Given the description of an element on the screen output the (x, y) to click on. 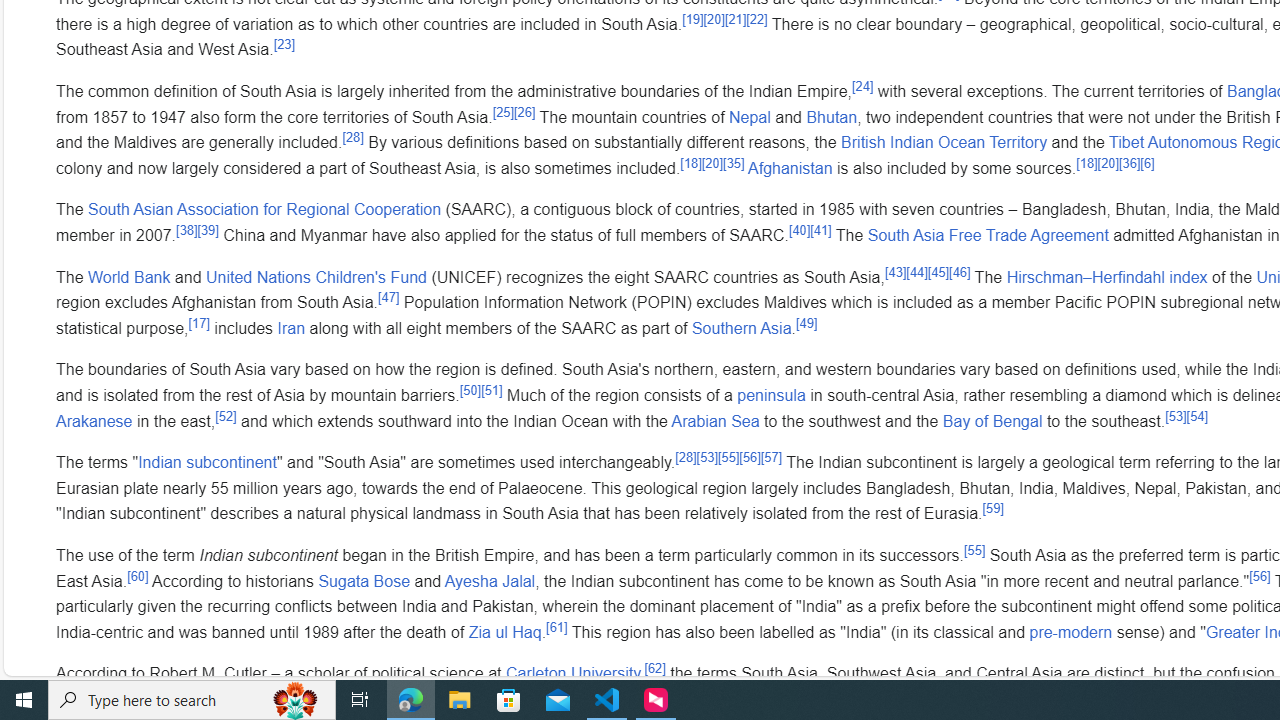
[44] (917, 272)
Nepal (749, 116)
[28] (685, 457)
Iran (290, 327)
British Indian Ocean Territory (944, 142)
[40] (799, 229)
[23] (283, 44)
[24] (862, 85)
[22] (757, 18)
Bhutan (831, 116)
Indian subcontinent (207, 463)
Arakanese (94, 420)
[59] (992, 508)
[52] (225, 416)
[50] (470, 390)
